Given the description of an element on the screen output the (x, y) to click on. 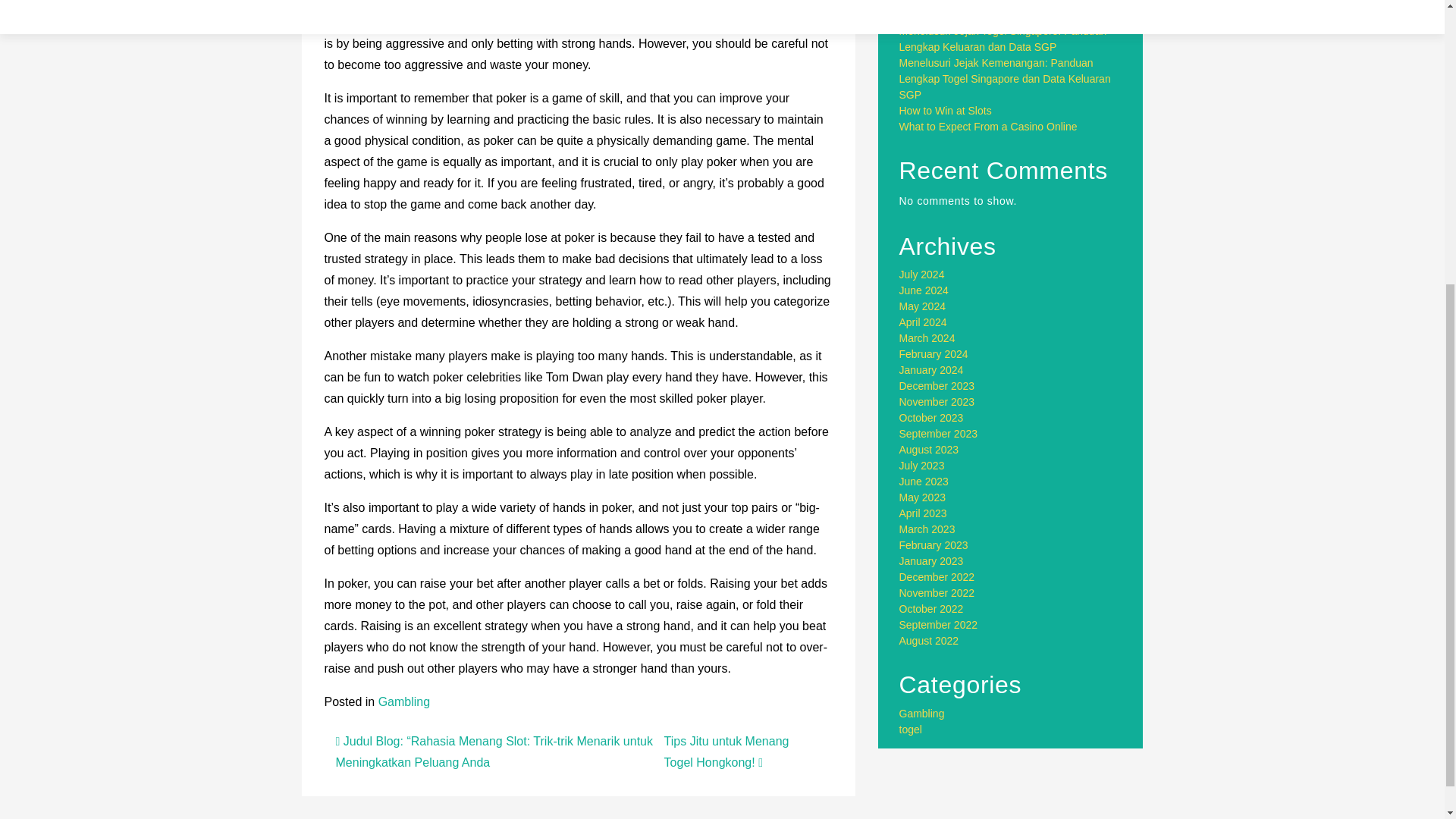
June 2024 (924, 290)
May 2023 (921, 497)
March 2024 (927, 337)
May 2024 (921, 306)
November 2022 (937, 592)
January 2024 (931, 369)
June 2023 (924, 481)
February 2023 (933, 544)
September 2022 (938, 624)
January 2023 (931, 561)
February 2024 (933, 354)
March 2023 (927, 529)
Gambling (921, 713)
